Given the description of an element on the screen output the (x, y) to click on. 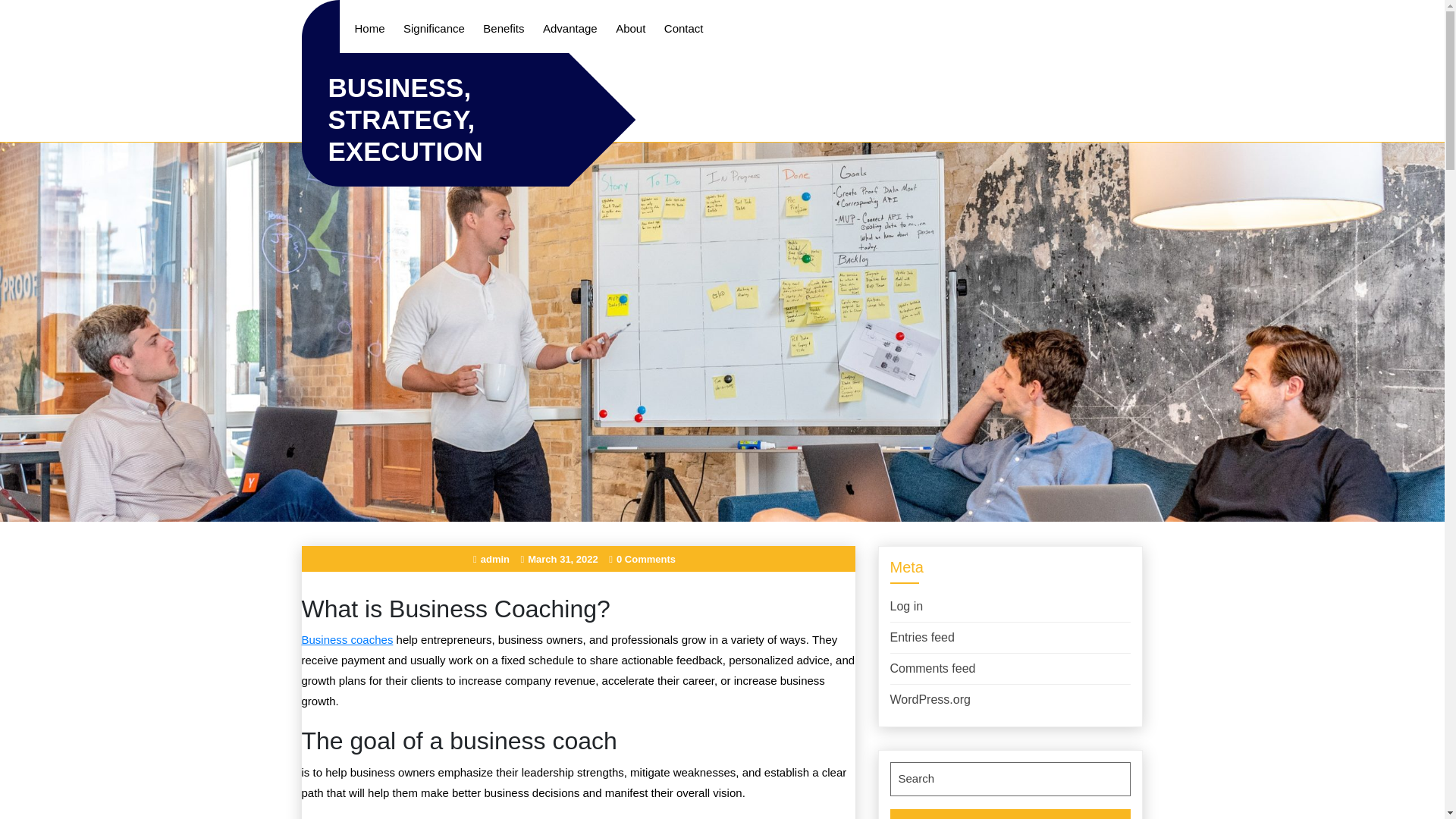
WordPress.org (930, 698)
About (630, 28)
Entries feed (922, 636)
Log in (906, 605)
Benefits (503, 28)
Advantage (570, 28)
Home (370, 28)
Business coaches (347, 639)
Contact (683, 28)
Search (1010, 813)
Significance (433, 28)
BUSINESS, STRATEGY, EXECUTION (404, 119)
Comments feed (932, 667)
